Given the description of an element on the screen output the (x, y) to click on. 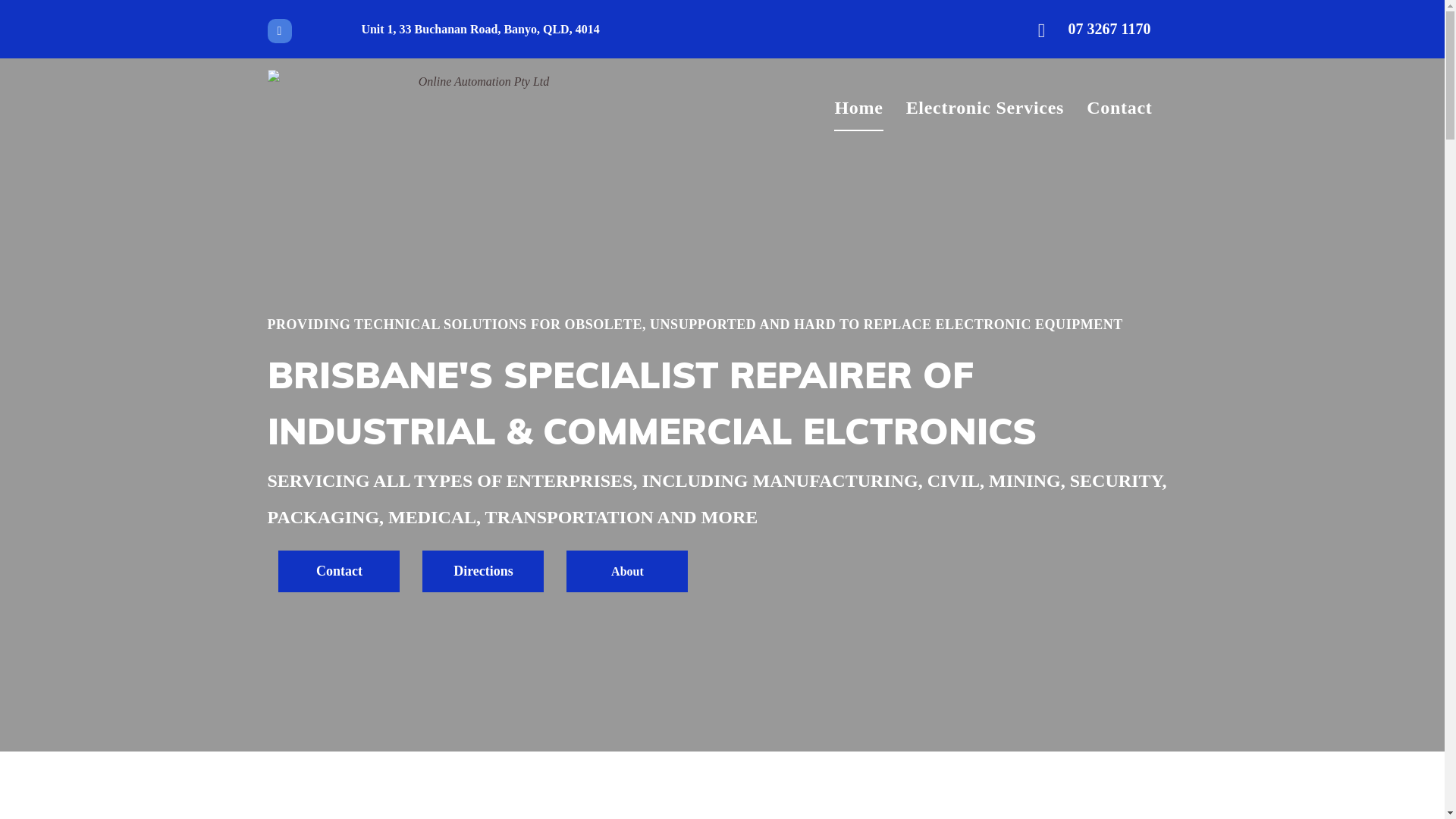
Online Automation Pty Ltd Element type: hover (476, 107)
Contact Element type: text (338, 571)
Electronic Services Element type: text (985, 107)
Unit 1, 33 Buchanan Road, Banyo, QLD Element type: text (464, 28)
Directions Element type: text (482, 571)
About Element type: text (626, 571)
07 3267 1170 Element type: text (1099, 29)
Contact Element type: text (1119, 107)
Home Element type: text (858, 107)
